Given the description of an element on the screen output the (x, y) to click on. 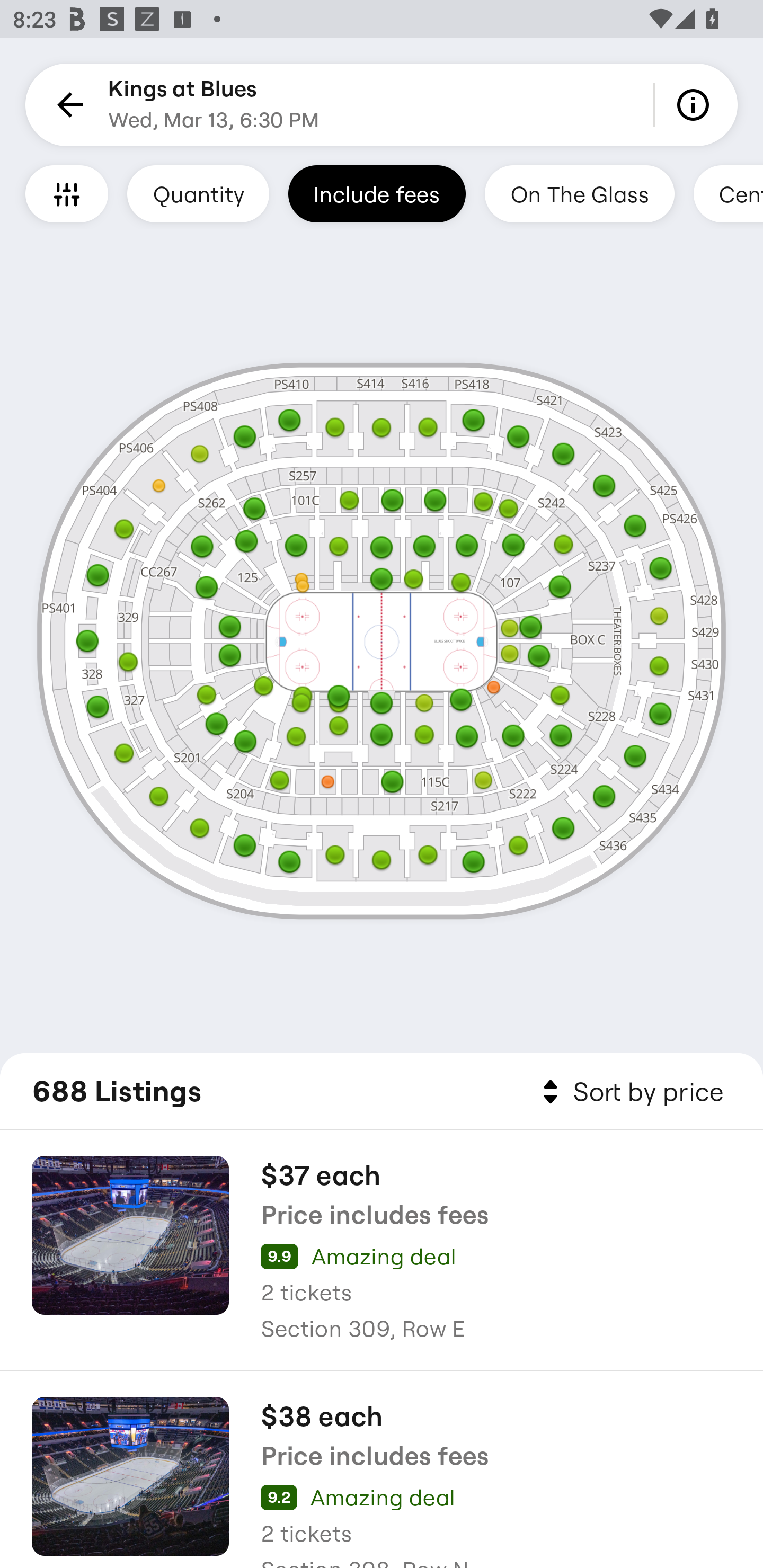
Back (66, 104)
Kings at Blues Wed, Mar 13, 6:30 PM (213, 104)
Info (695, 104)
Filters and Accessible Seating (66, 193)
Quantity (198, 193)
Include fees (376, 193)
On The Glass (579, 193)
Sort by price (629, 1091)
